Given the description of an element on the screen output the (x, y) to click on. 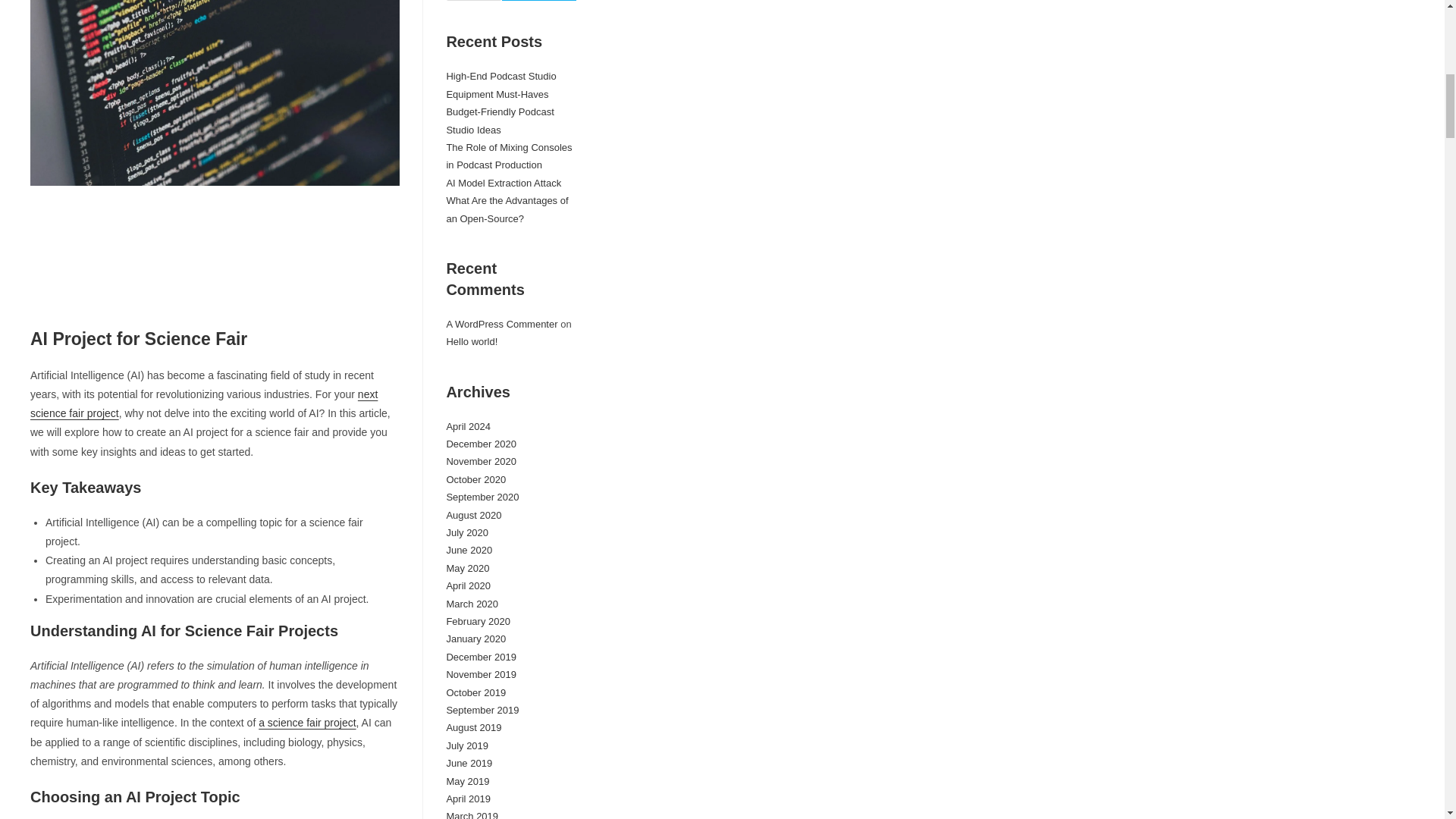
next science fair project (203, 403)
a science fair project (307, 722)
AI Model Extraction Attack (502, 183)
Budget-Friendly Podcast Studio Ideas (499, 120)
High-End Podcast Studio Equipment Must-Haves (500, 84)
The Role of Mixing Consoles in Podcast Production (508, 155)
